Given the description of an element on the screen output the (x, y) to click on. 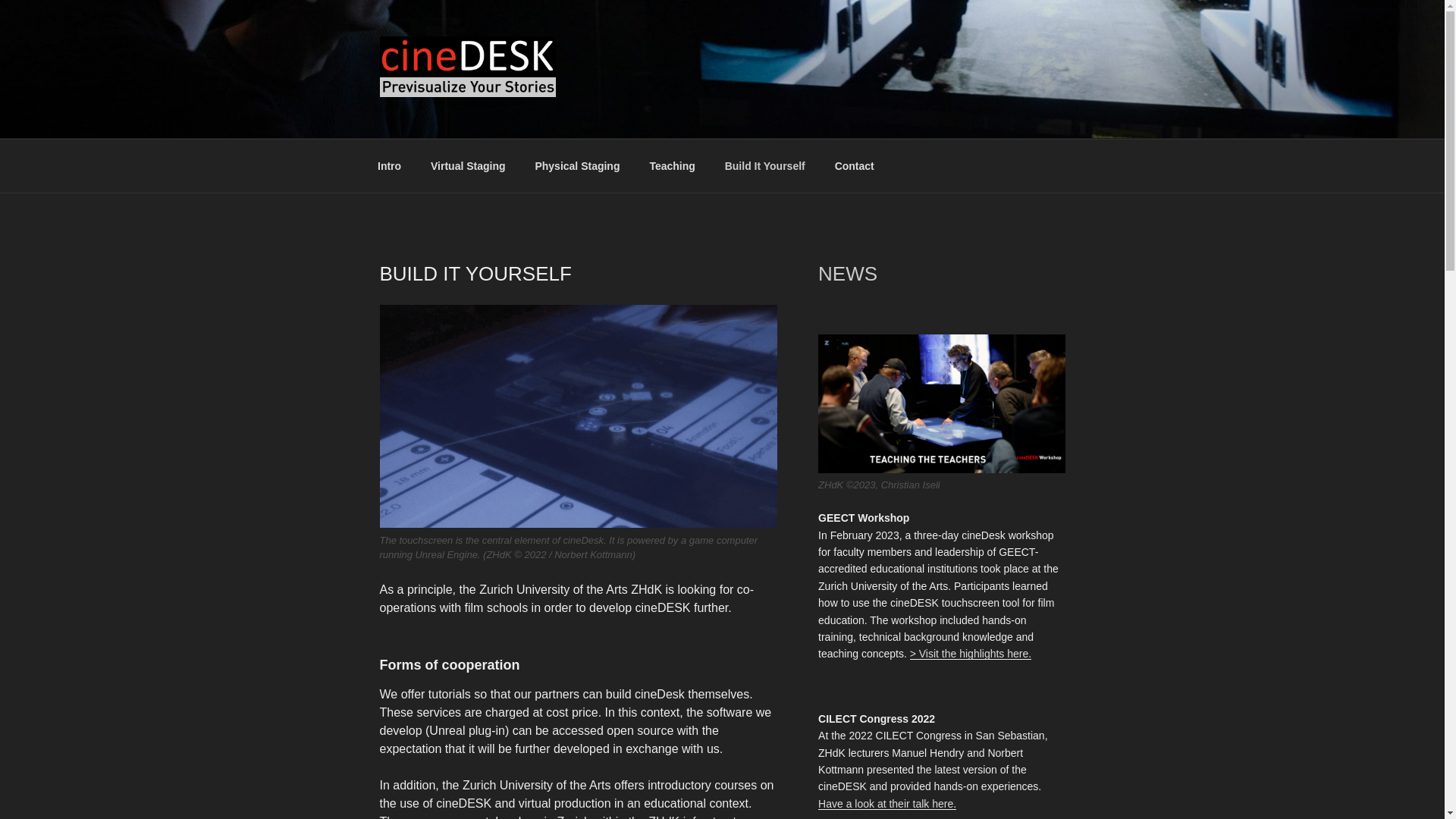
Physical Staging (577, 165)
CINEDESK (457, 119)
Intro (388, 165)
Virtual Staging (467, 165)
Contact (853, 165)
Build It Yourself (764, 165)
Teaching (671, 165)
Have a look at their talk here. (887, 803)
